Given the description of an element on the screen output the (x, y) to click on. 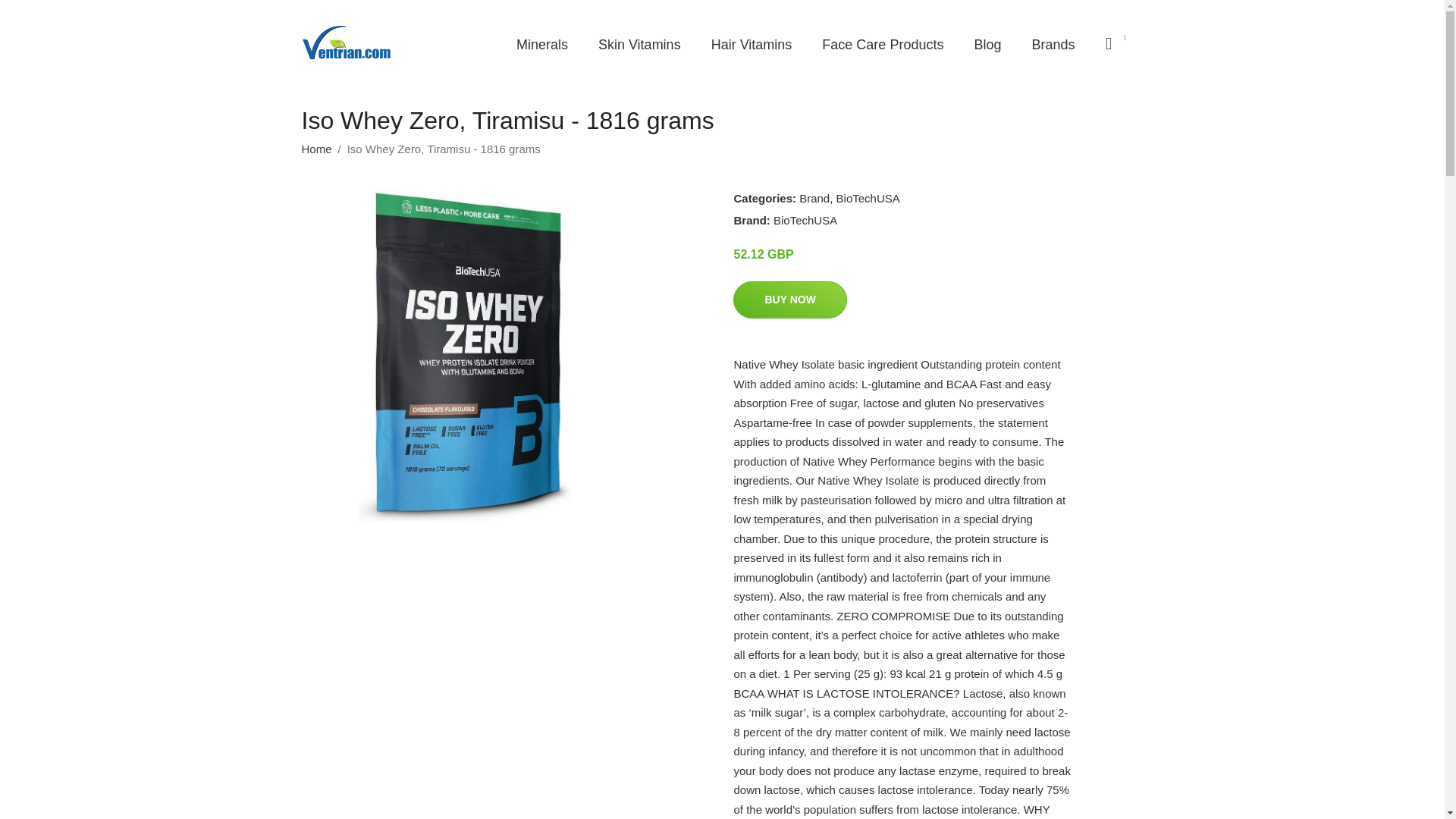
BUY NOW (789, 299)
Brands (1052, 44)
Minerals (541, 44)
Blog (987, 44)
Home (316, 148)
Face Care Products (882, 44)
Hair Vitamins (751, 44)
Skin Vitamins (639, 44)
BioTechUSA (867, 197)
Brand (814, 197)
